Given the description of an element on the screen output the (x, y) to click on. 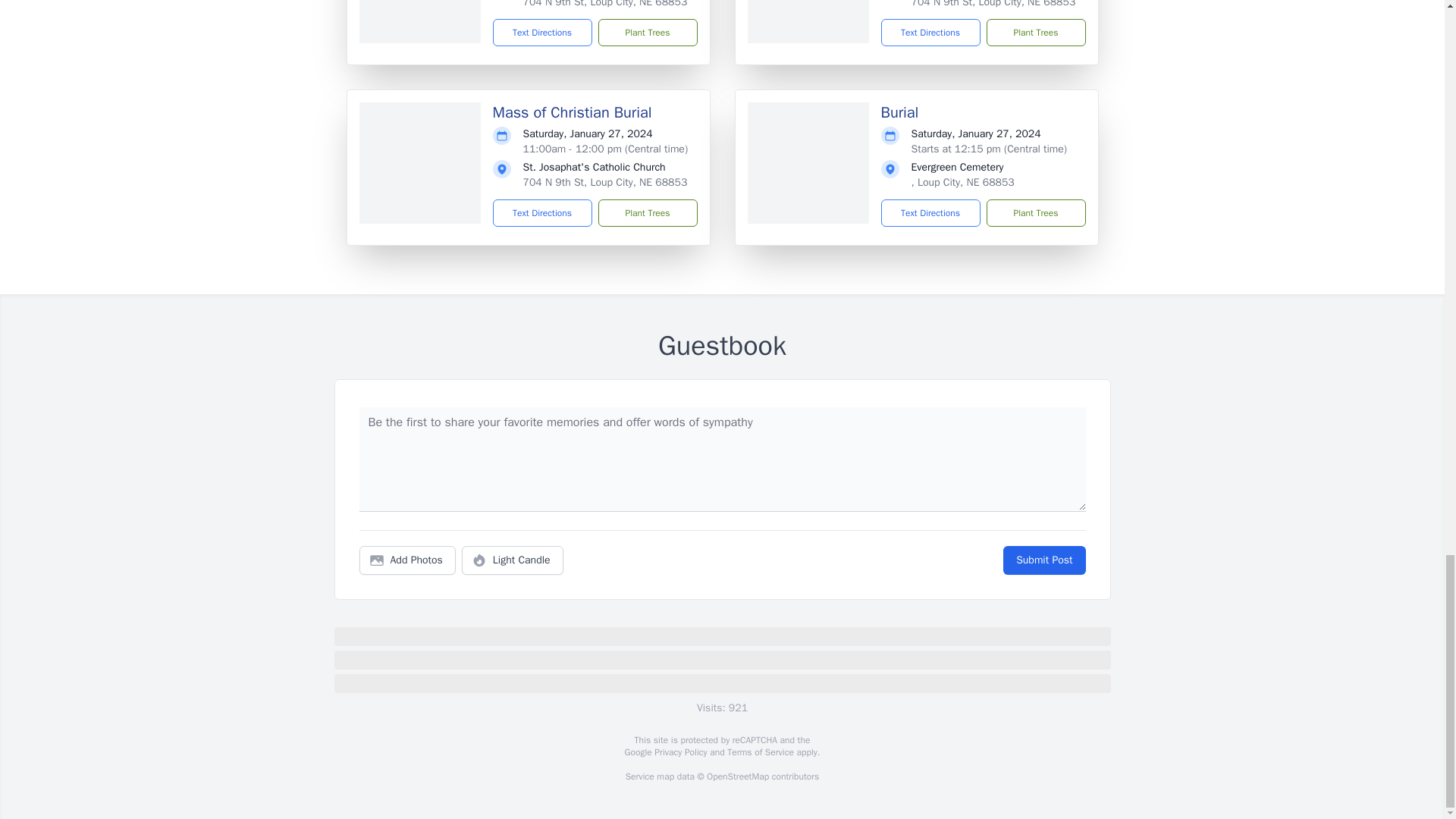
Text Directions (542, 212)
Plant Trees (1034, 212)
Text Directions (542, 31)
704 N 9th St, Loup City, NE 68853 (993, 4)
Plant Trees (1034, 31)
Text Directions (929, 212)
, Loup City, NE 68853 (962, 182)
704 N 9th St, Loup City, NE 68853 (604, 4)
Plant Trees (646, 212)
704 N 9th St, Loup City, NE 68853 (604, 182)
